Given the description of an element on the screen output the (x, y) to click on. 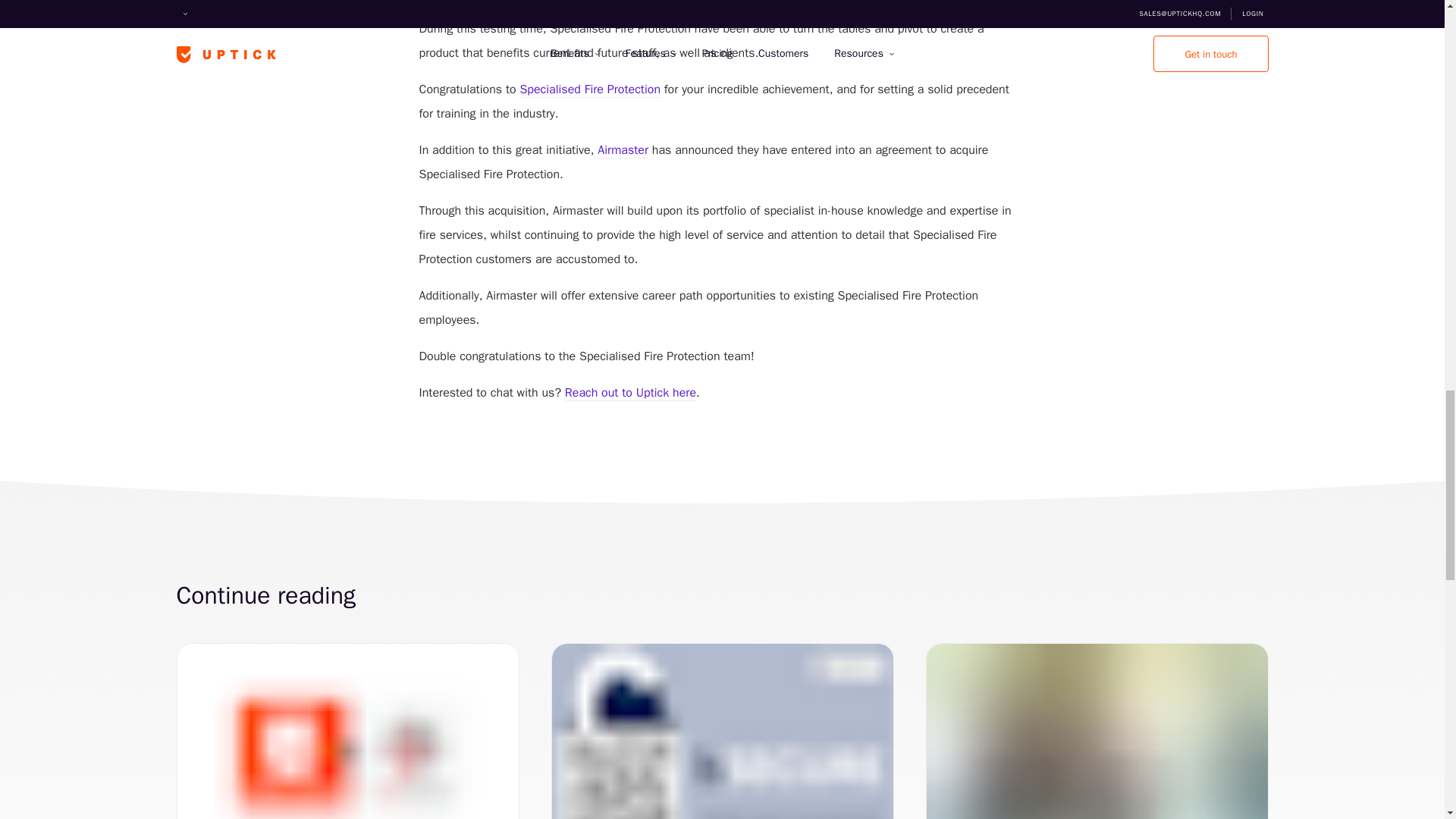
Airmaster (621, 150)
Specialised Fire Protection (590, 89)
Reach out to Uptick here (629, 392)
